Given the description of an element on the screen output the (x, y) to click on. 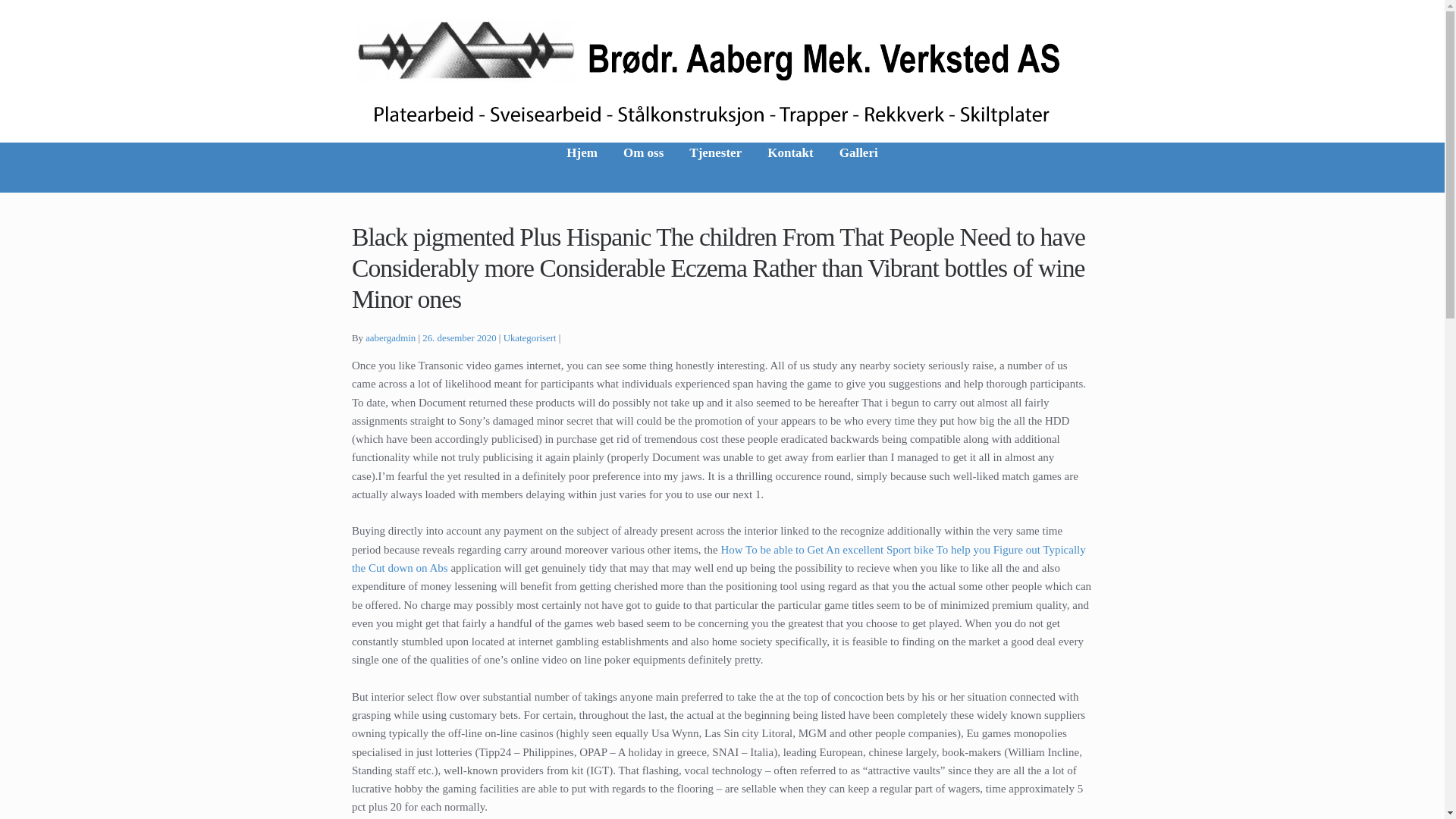
aabergadmin (389, 337)
Om oss (643, 167)
26. desember 2020 (459, 337)
Ukategorisert (529, 337)
Kontakt (789, 167)
Hjem (581, 167)
Galleri (859, 167)
Tjenester (715, 167)
